Given the description of an element on the screen output the (x, y) to click on. 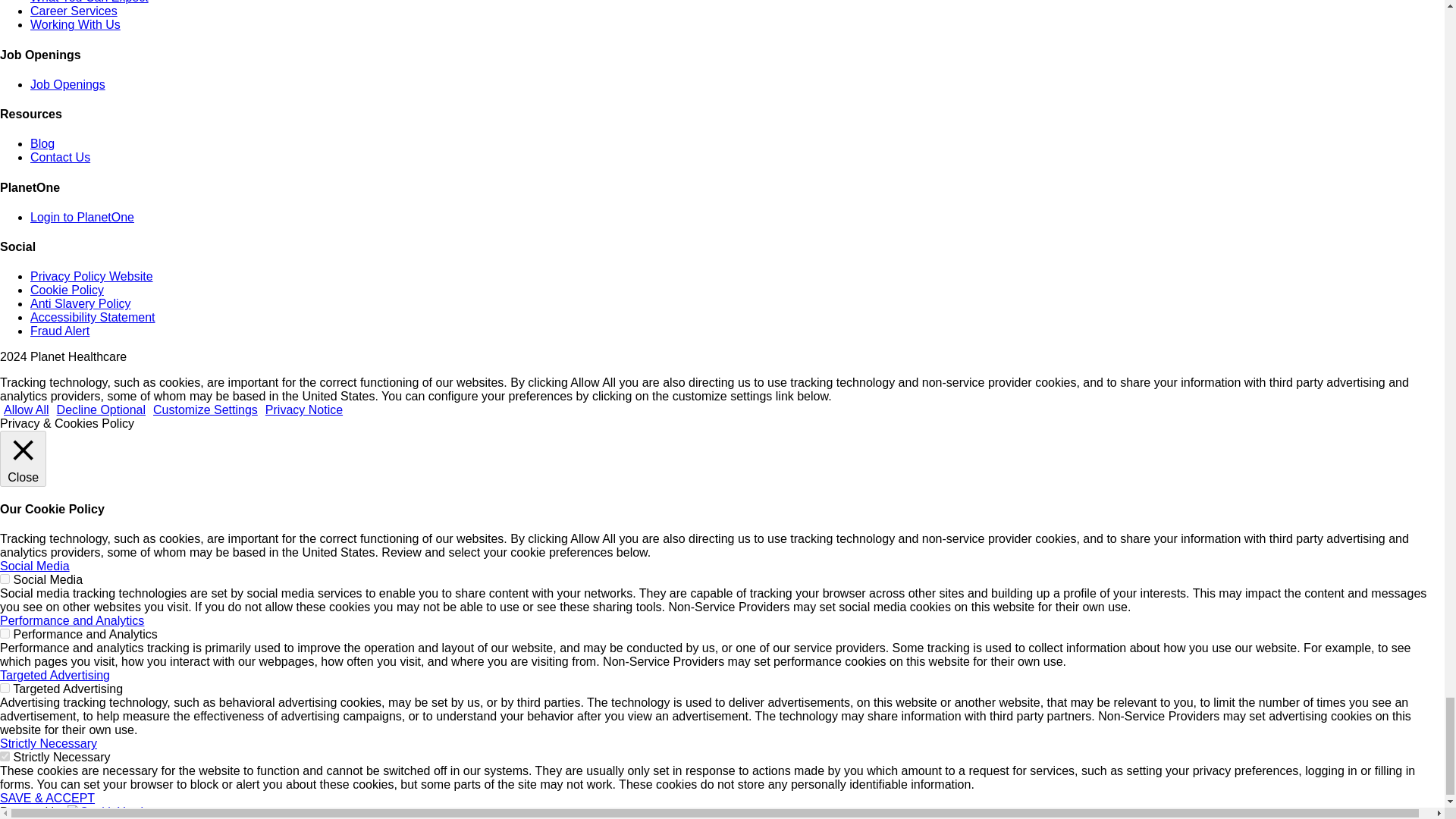
on (5, 633)
on (5, 756)
on (5, 578)
on (5, 687)
